Given the description of an element on the screen output the (x, y) to click on. 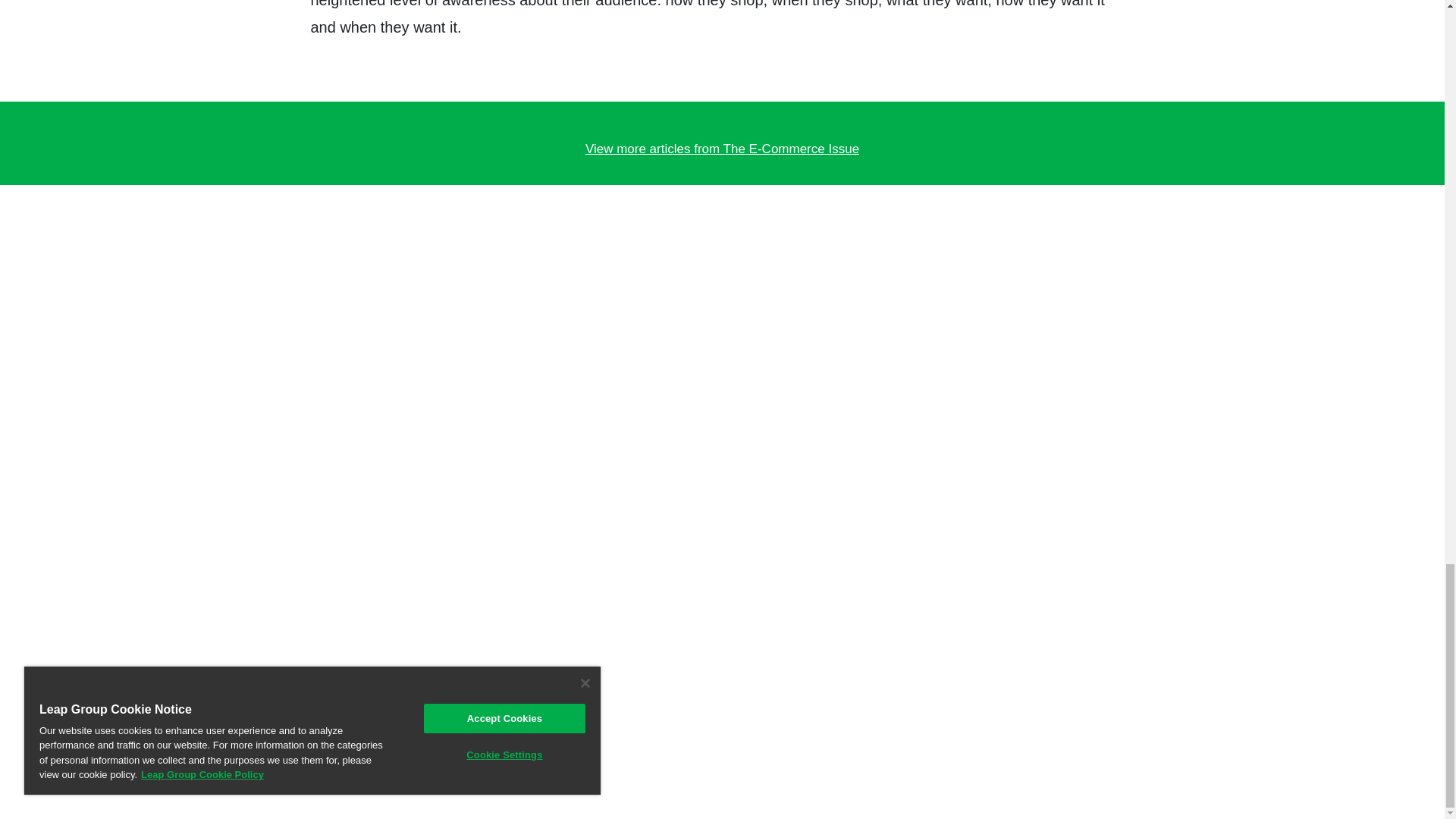
View more articles from The E-Commerce Issue (721, 149)
